Given the description of an element on the screen output the (x, y) to click on. 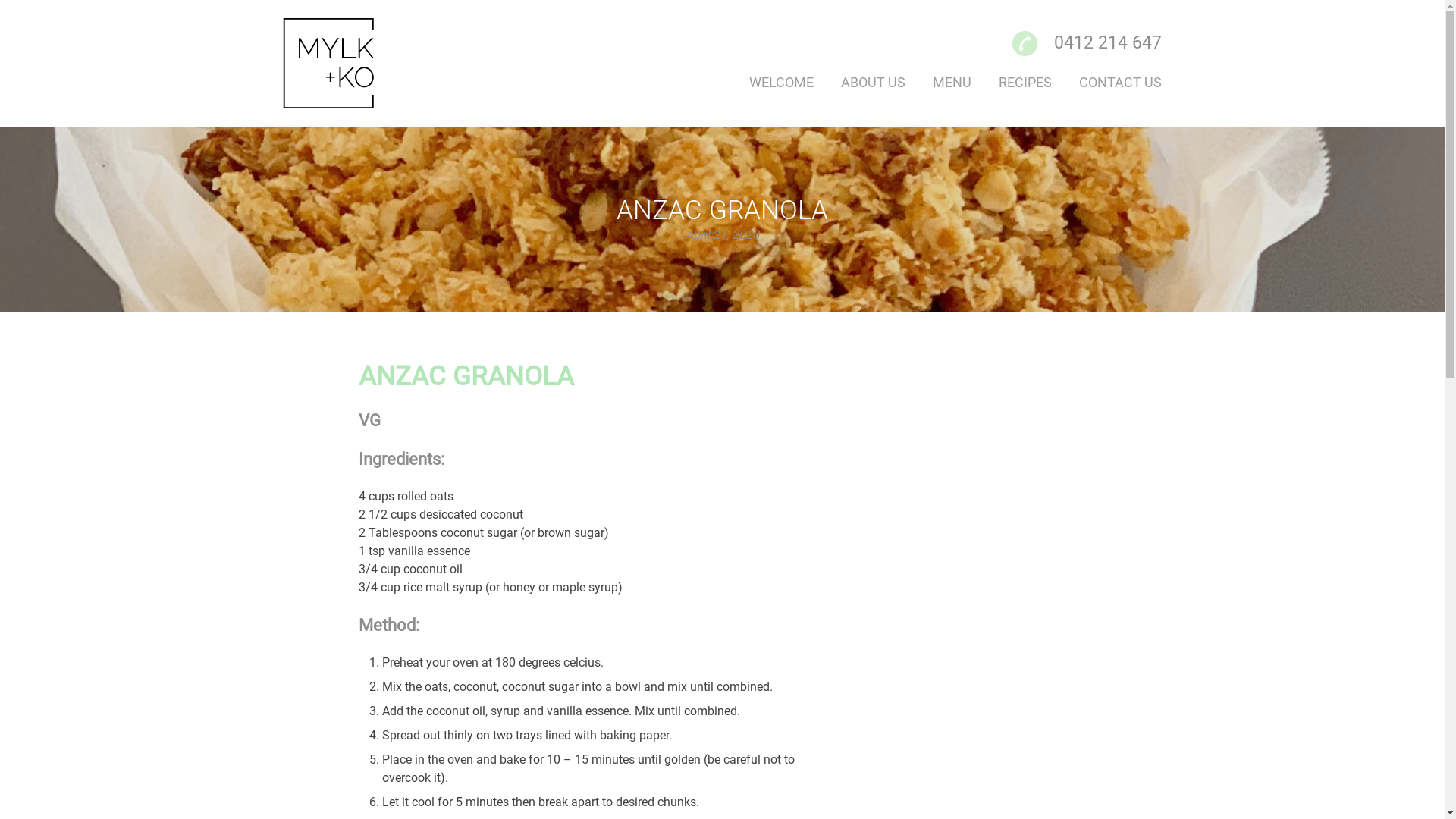
CONTACT US Element type: text (1120, 82)
WELCOME Element type: text (781, 82)
MENU Element type: text (951, 82)
RECIPES Element type: text (1024, 82)
ABOUT US Element type: text (872, 82)
0412 214 647 Element type: text (1107, 42)
Return to homepage Element type: hover (345, 63)
April 21, 2020 Element type: text (722, 234)
